Given the description of an element on the screen output the (x, y) to click on. 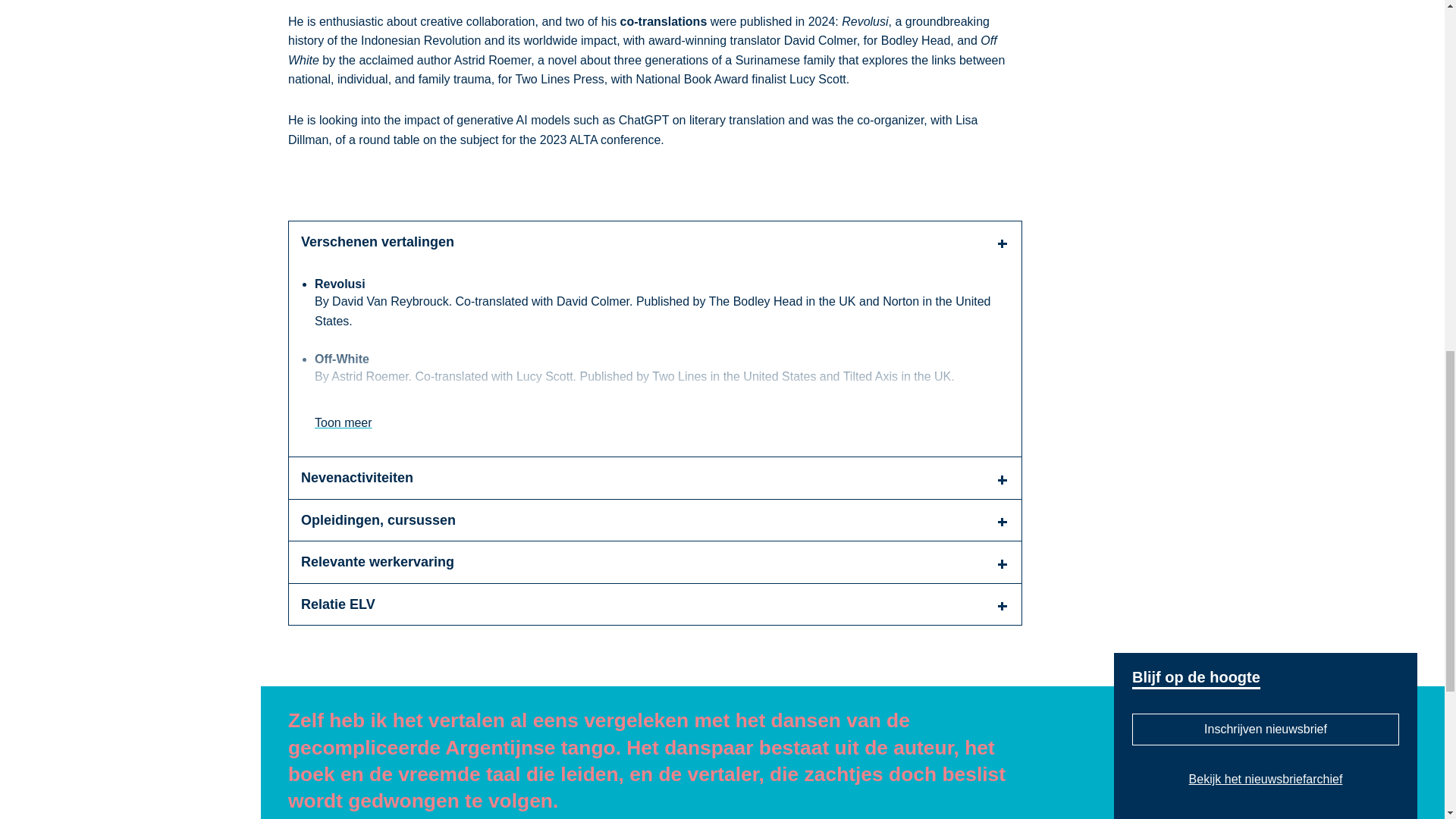
Inschrijven nieuwsbrief (1265, 729)
Toon meer (343, 423)
Bekijk het nieuwsbriefarchief (1265, 779)
Verschenen vertalingen (655, 241)
Opleidingen, cursussen (655, 520)
Relevante werkervaring (655, 562)
Relatie ELV (655, 604)
Nevenactiviteiten (655, 477)
